Given the description of an element on the screen output the (x, y) to click on. 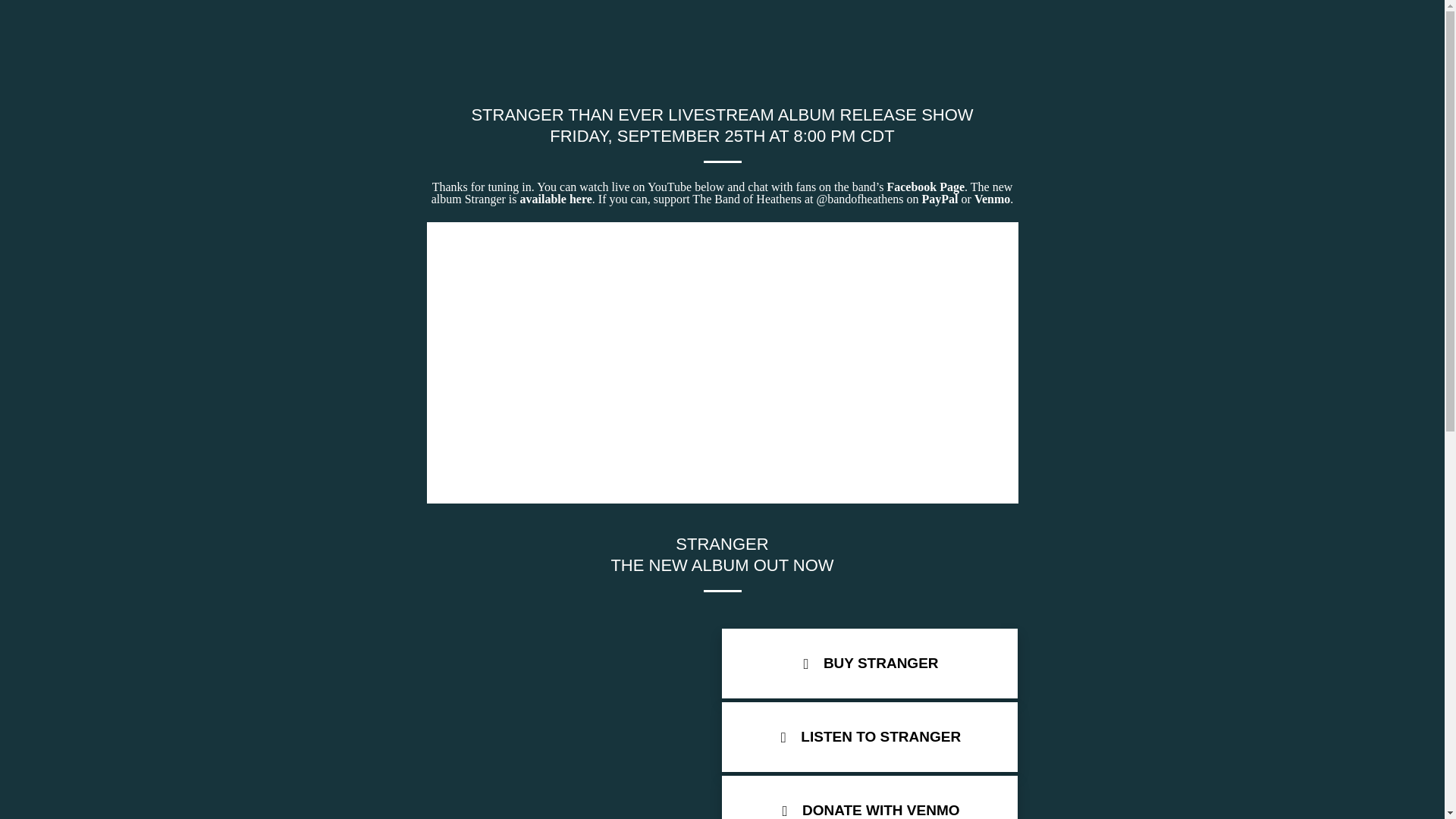
DONATE WITH VENMO (869, 797)
BUY STRANGER (869, 663)
LISTEN TO STRANGER (869, 736)
Venmo (992, 198)
available here (555, 198)
Facebook Page (924, 186)
PayPal (939, 198)
